Given the description of an element on the screen output the (x, y) to click on. 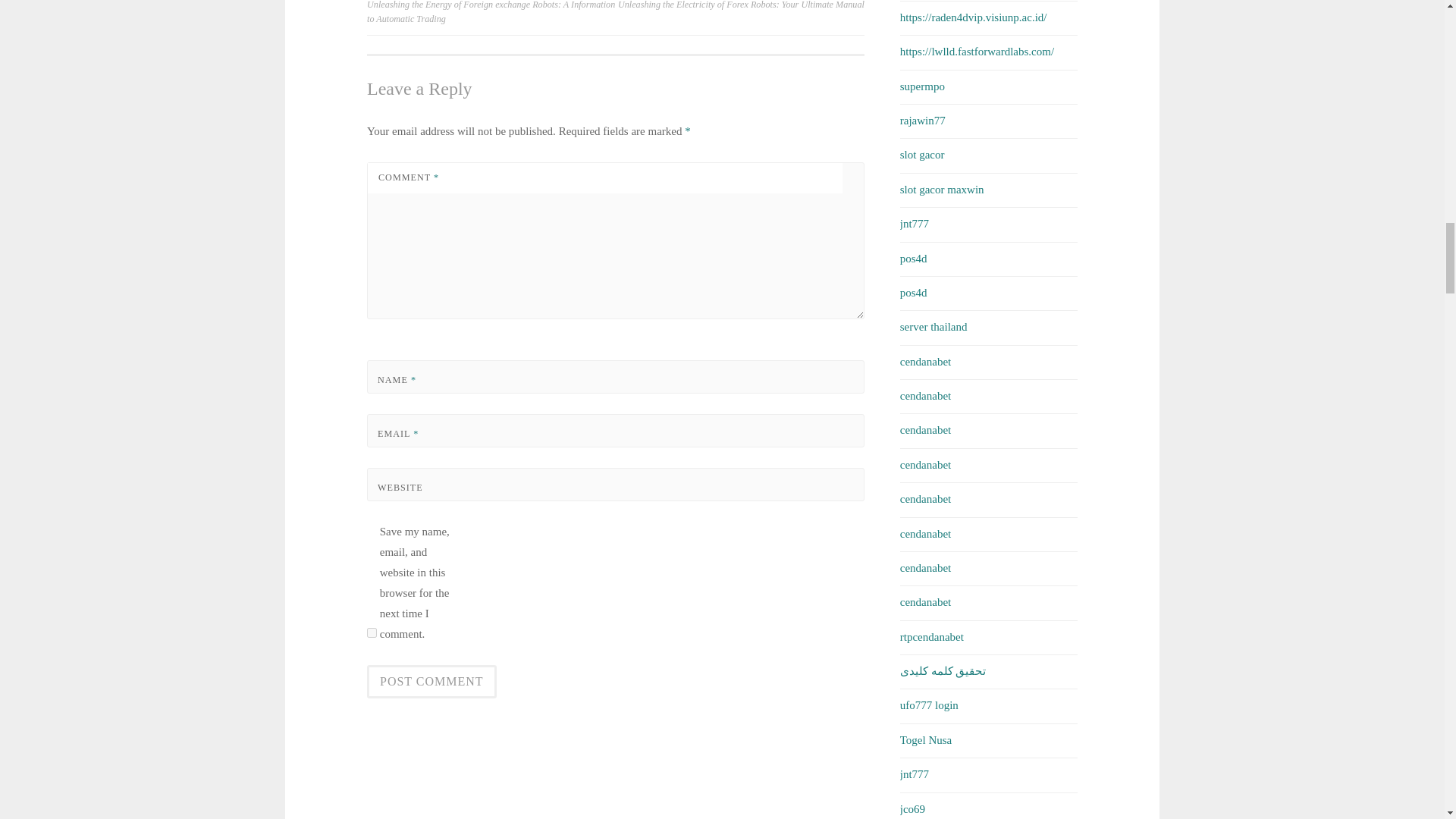
yes (371, 633)
Post Comment (431, 681)
Post Comment (431, 681)
